Given the description of an element on the screen output the (x, y) to click on. 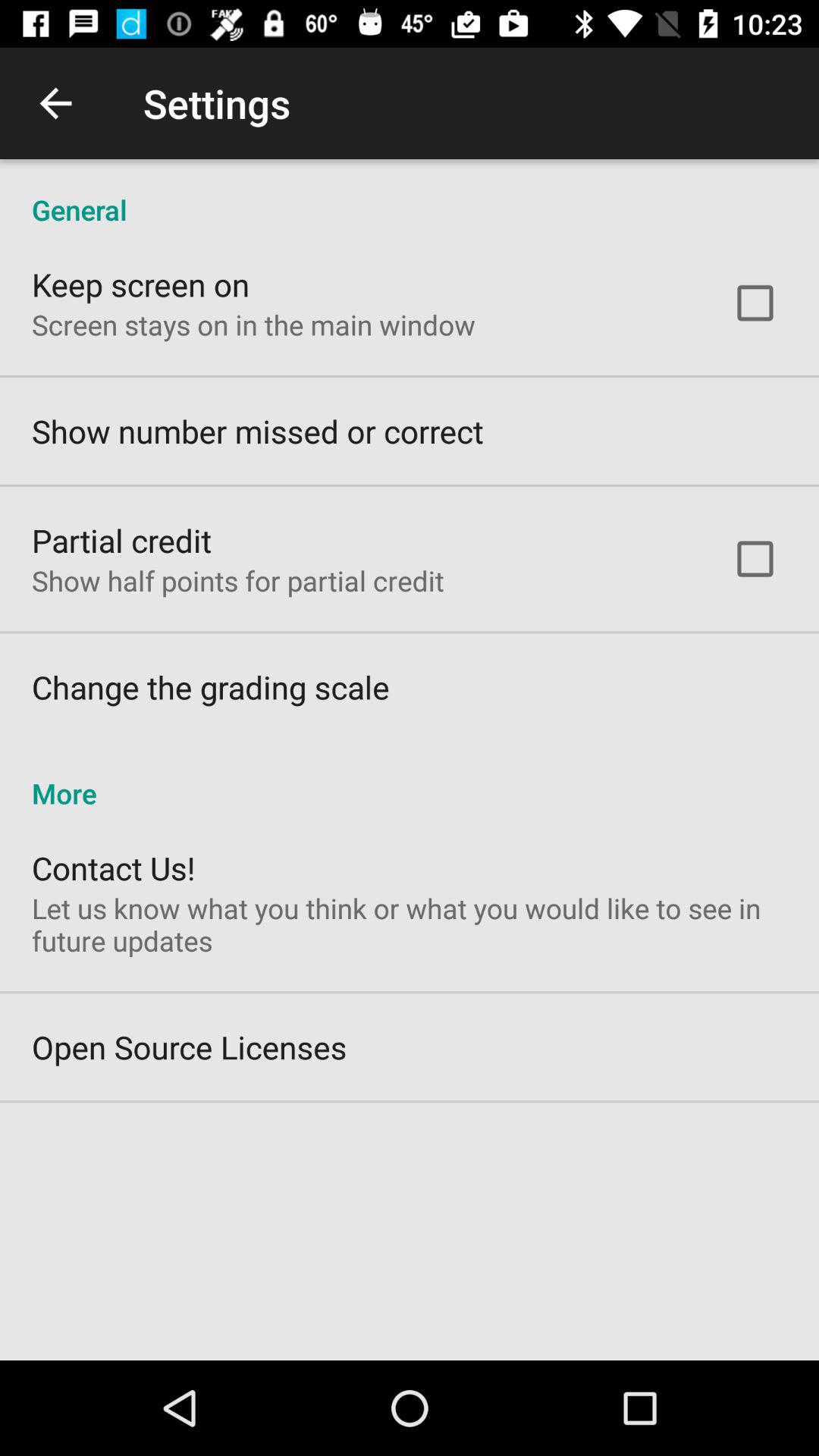
jump until open source licenses item (188, 1046)
